Given the description of an element on the screen output the (x, y) to click on. 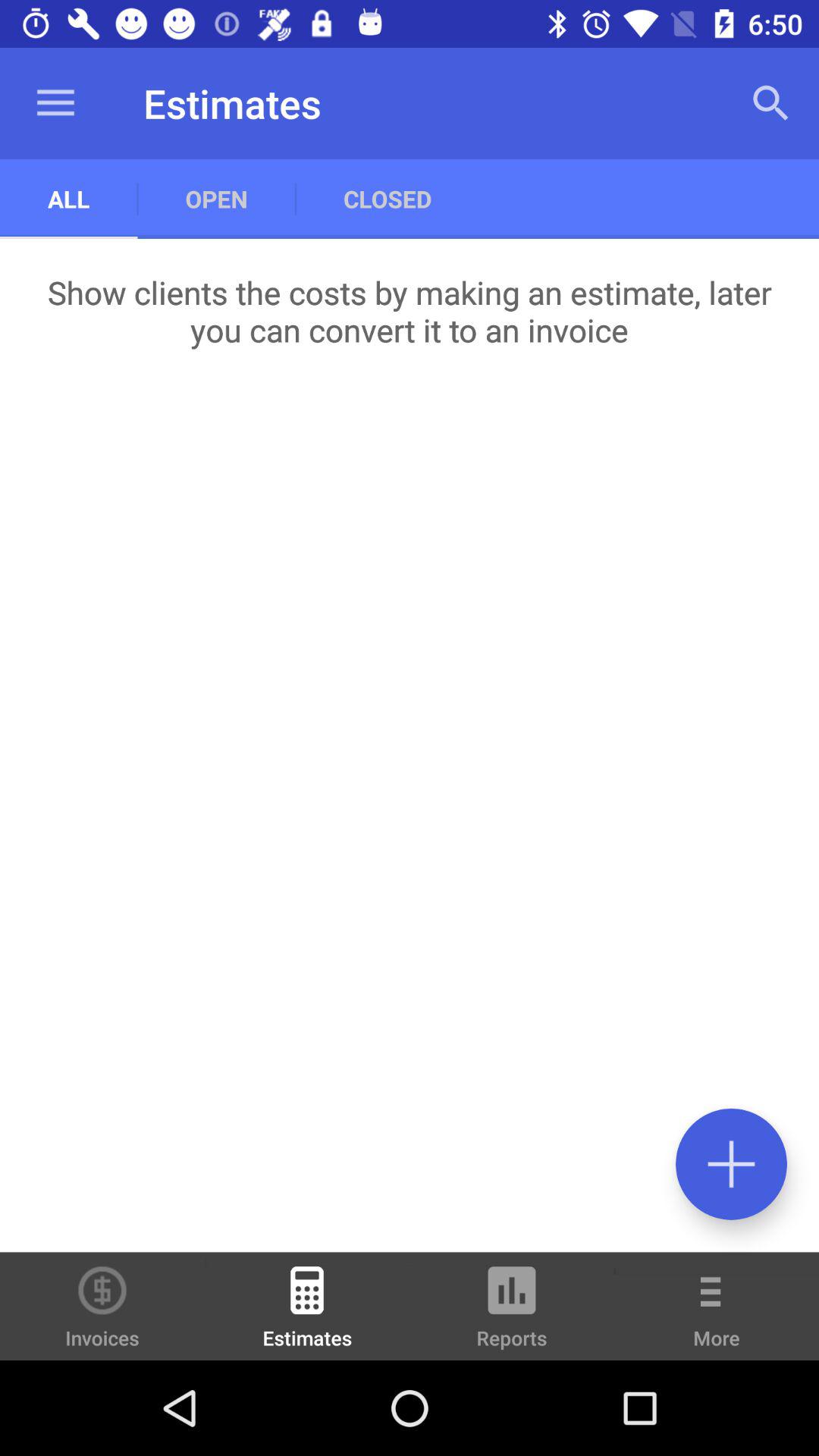
turn on item next to the more item (511, 1313)
